Given the description of an element on the screen output the (x, y) to click on. 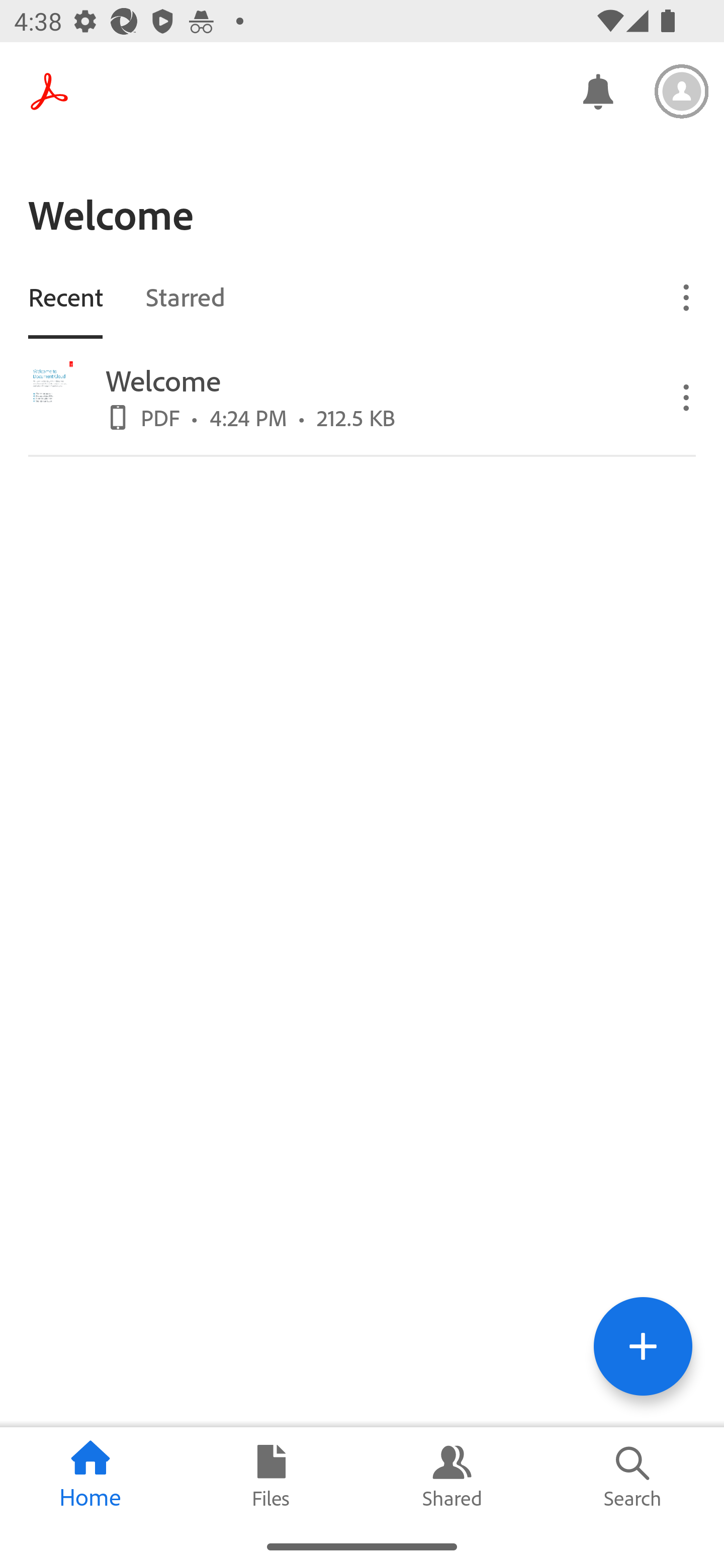
Notifications (597, 90)
Settings (681, 91)
Recent (65, 296)
Starred (185, 296)
Overflow (687, 296)
Overflow (687, 396)
Tools (642, 1345)
Home (90, 1475)
Files (271, 1475)
Shared (452, 1475)
Search (633, 1475)
